Given the description of an element on the screen output the (x, y) to click on. 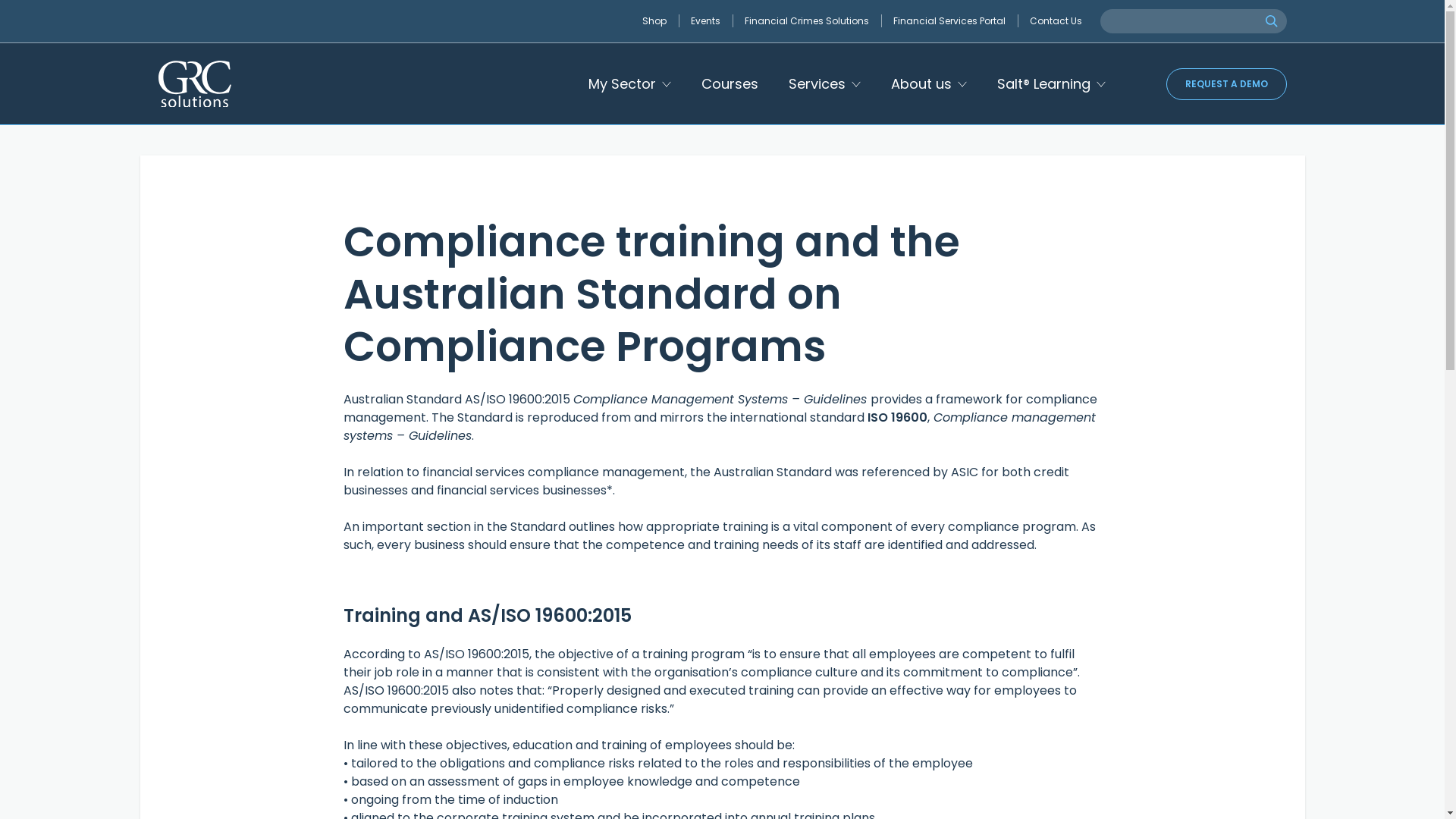
About us Element type: text (928, 83)
Contact Us Element type: text (1055, 20)
Shop Element type: text (659, 20)
Financial Services Portal Element type: text (955, 20)
Financial Crimes Solutions Element type: text (812, 20)
Services Element type: text (824, 83)
REQUEST A DEMO Element type: text (1226, 84)
Search Element type: text (1270, 21)
Events Element type: text (711, 20)
Courses Element type: text (728, 83)
My Sector Element type: text (629, 83)
